Given the description of an element on the screen output the (x, y) to click on. 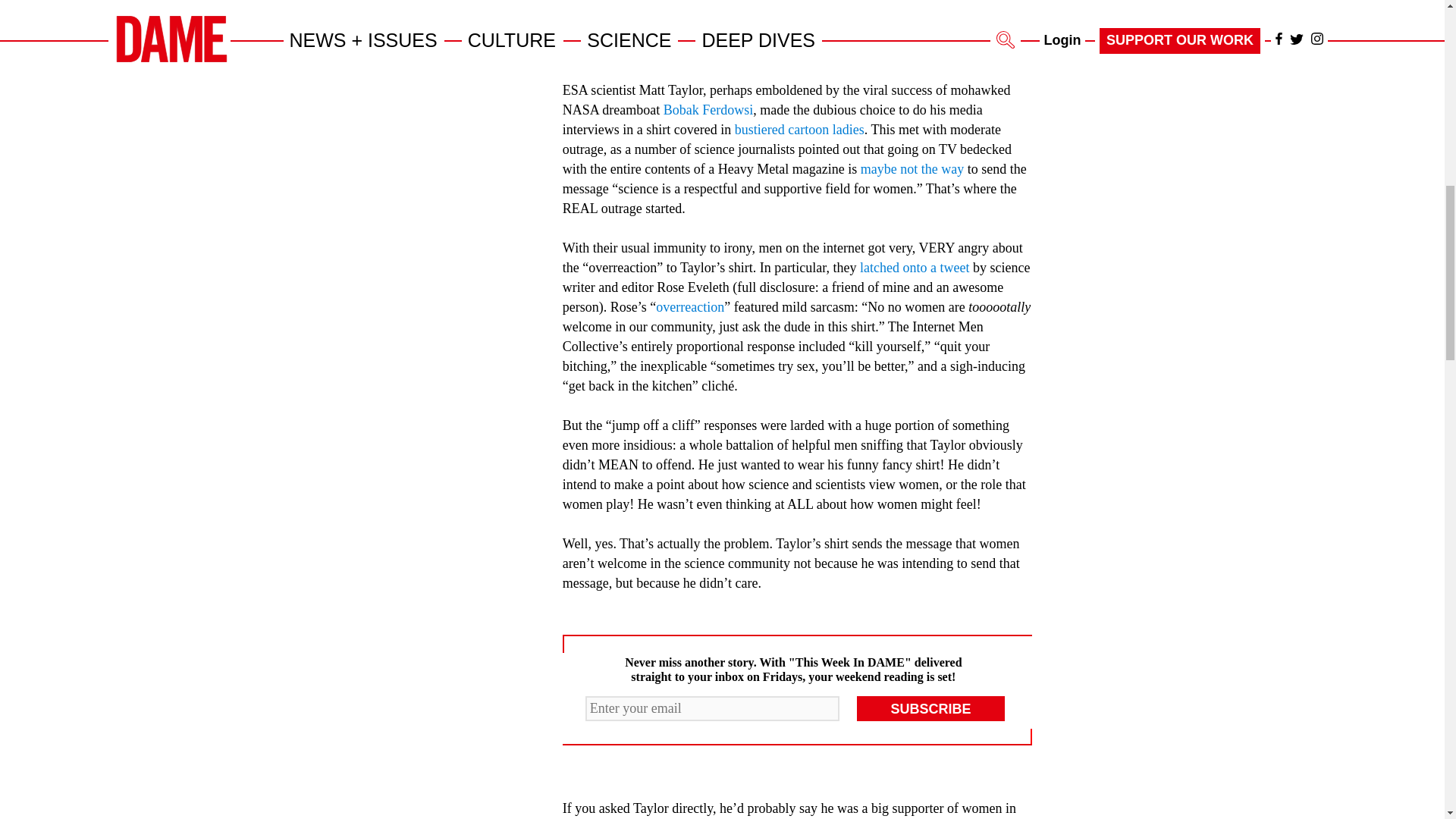
This external link will open in a new window (670, 30)
This external link will open in a new window (914, 267)
This external link will open in a new window (708, 109)
This external link will open in a new window (911, 168)
Subscribe (931, 708)
This external link will open in a new window (689, 306)
This external link will open in a new window (799, 129)
